Given the description of an element on the screen output the (x, y) to click on. 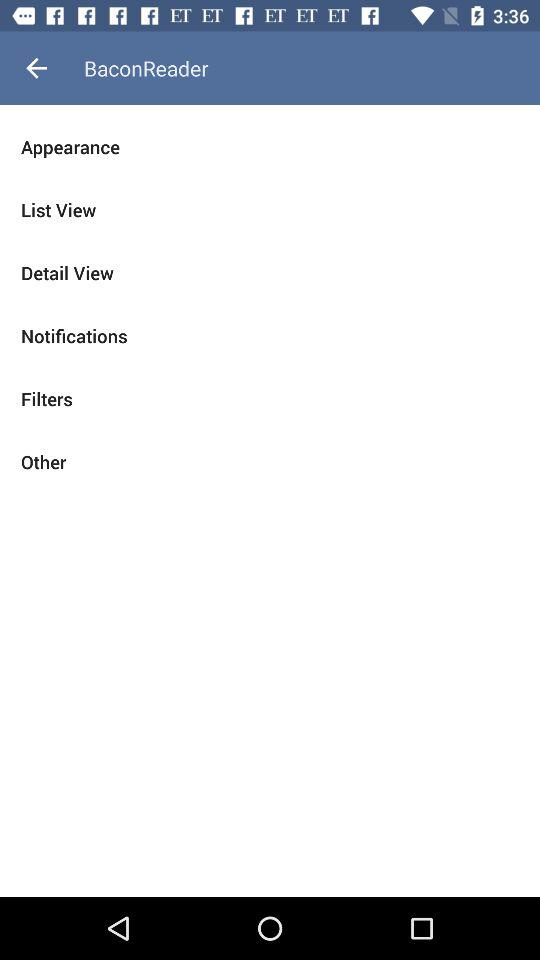
turn on the item to the left of the baconreader item (36, 68)
